Given the description of an element on the screen output the (x, y) to click on. 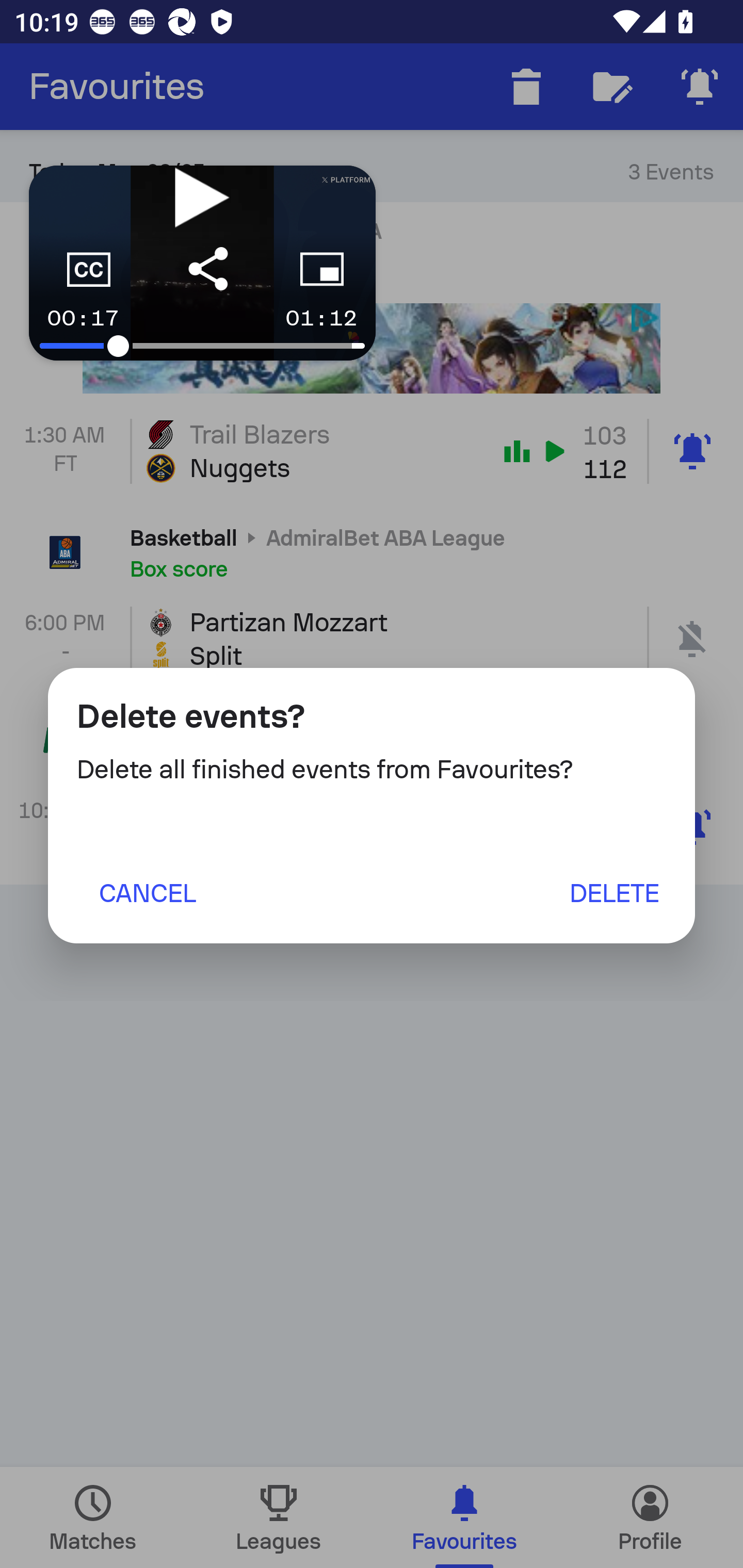
CANCEL (146, 892)
DELETE (614, 892)
